Given the description of an element on the screen output the (x, y) to click on. 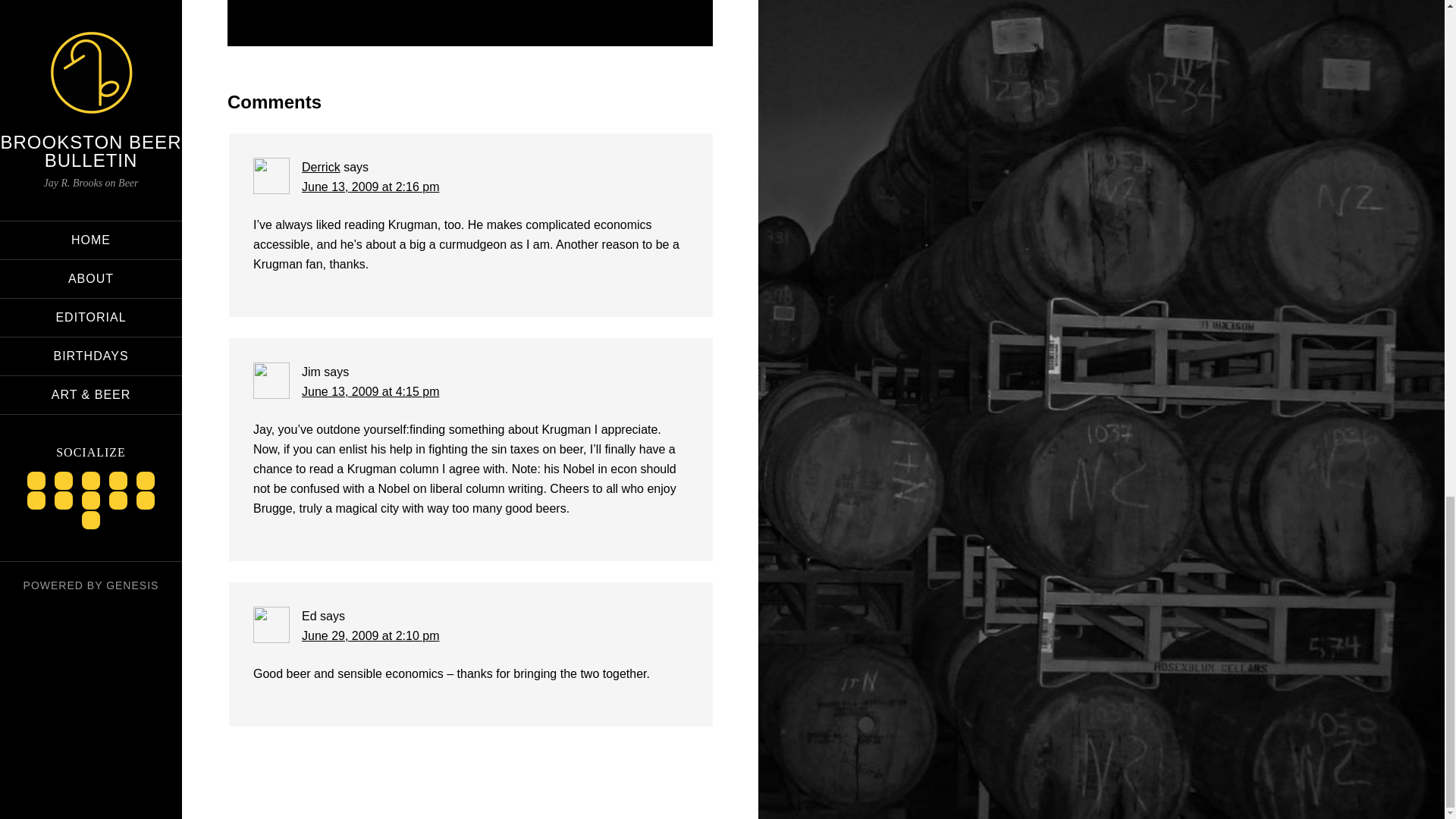
June 13, 2009 at 4:15 pm (370, 391)
Derrick (320, 166)
June 29, 2009 at 2:10 pm (370, 635)
June 13, 2009 at 2:16 pm (370, 186)
Advertisement (469, 4)
